Given the description of an element on the screen output the (x, y) to click on. 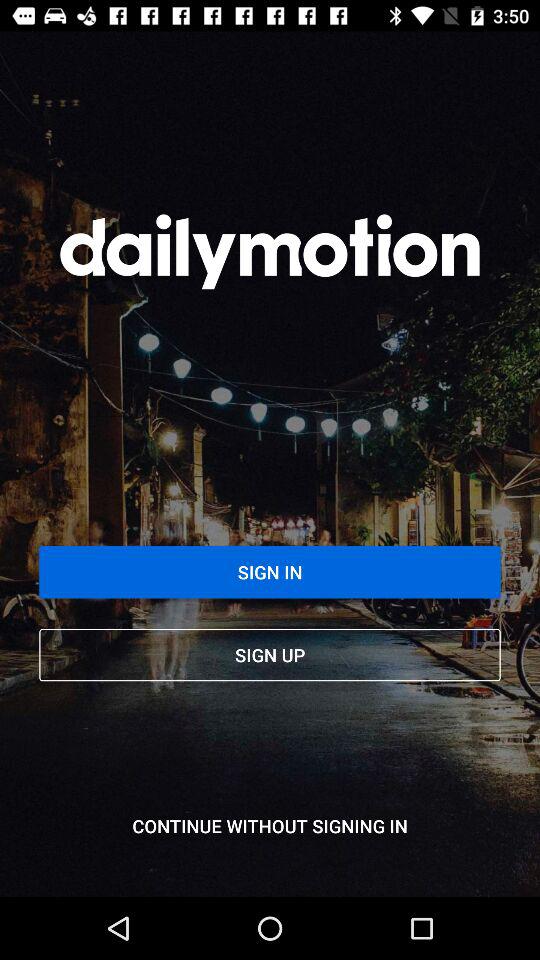
click the icon above the sign up item (269, 571)
